Given the description of an element on the screen output the (x, y) to click on. 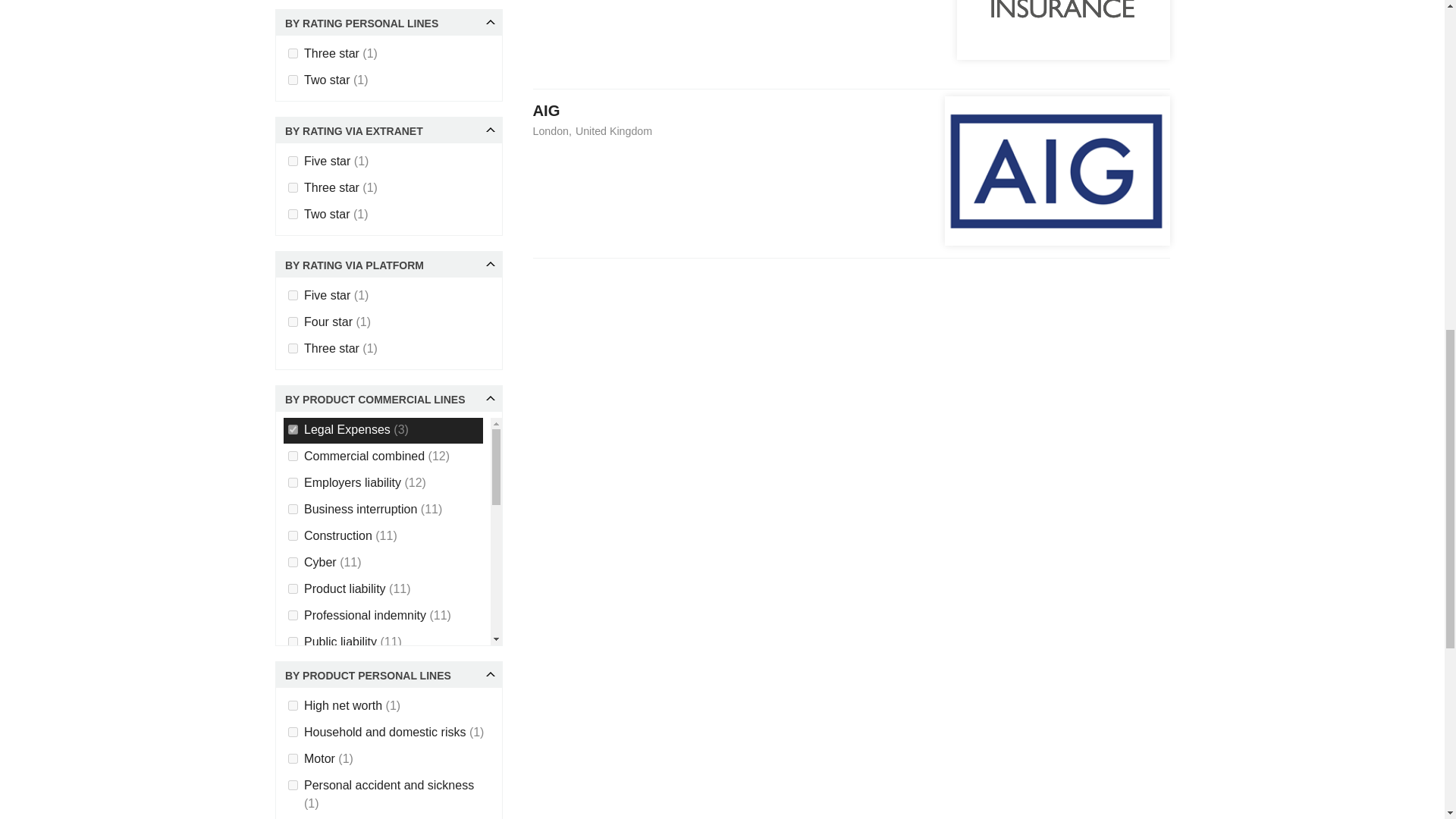
14171 (293, 429)
14160 (293, 214)
14152 (293, 80)
14159 (293, 187)
14163 (293, 347)
14162 (293, 321)
14135 (293, 456)
14151 (293, 53)
14137 (293, 562)
14134 (293, 509)
14139 (293, 482)
14136 (293, 535)
14157 (293, 161)
14161 (293, 295)
14143 (293, 588)
